Given the description of an element on the screen output the (x, y) to click on. 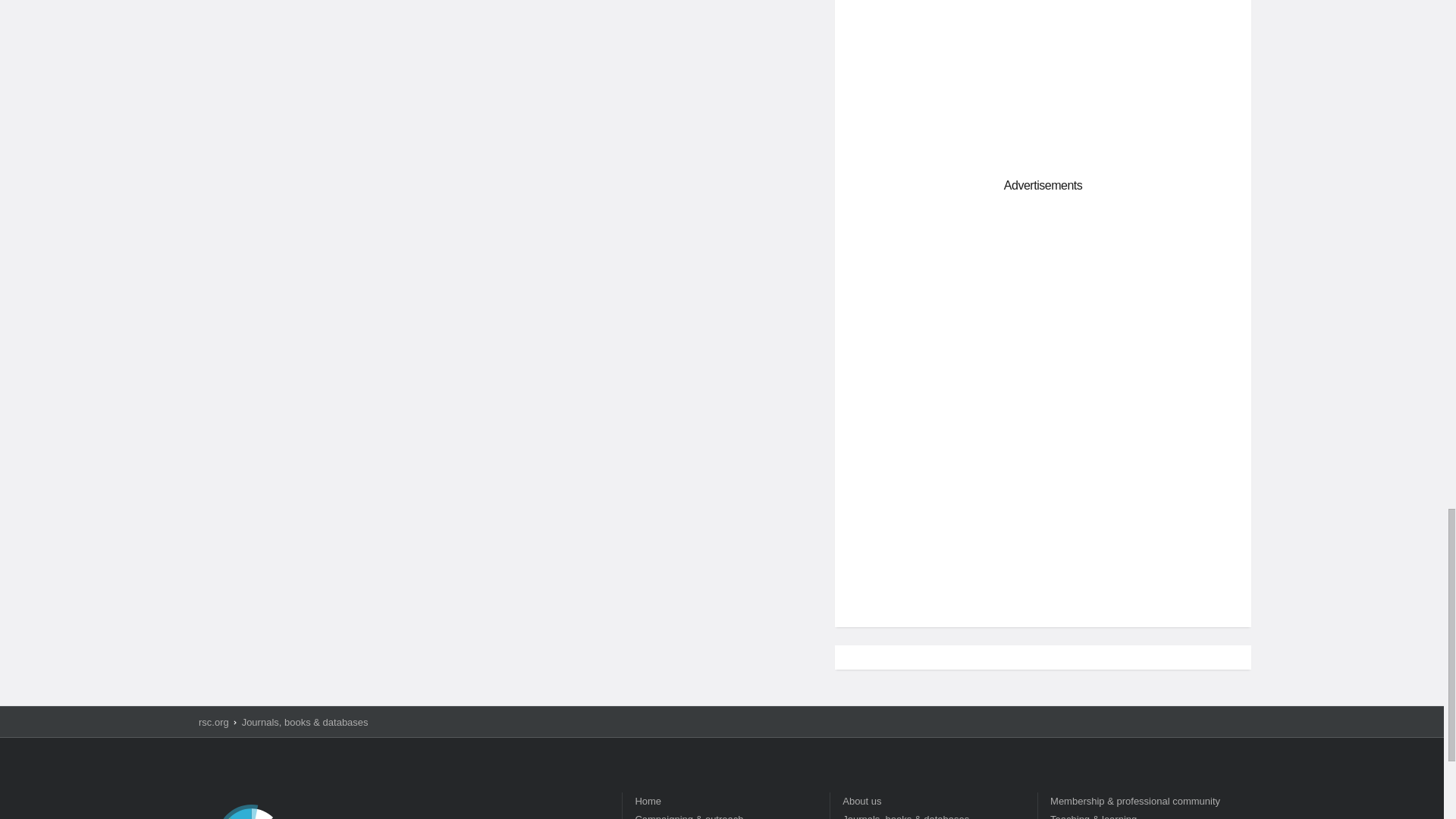
3rd party ad content (1043, 306)
3rd party ad content (1043, 507)
3rd party ad content (1043, 76)
